Given the description of an element on the screen output the (x, y) to click on. 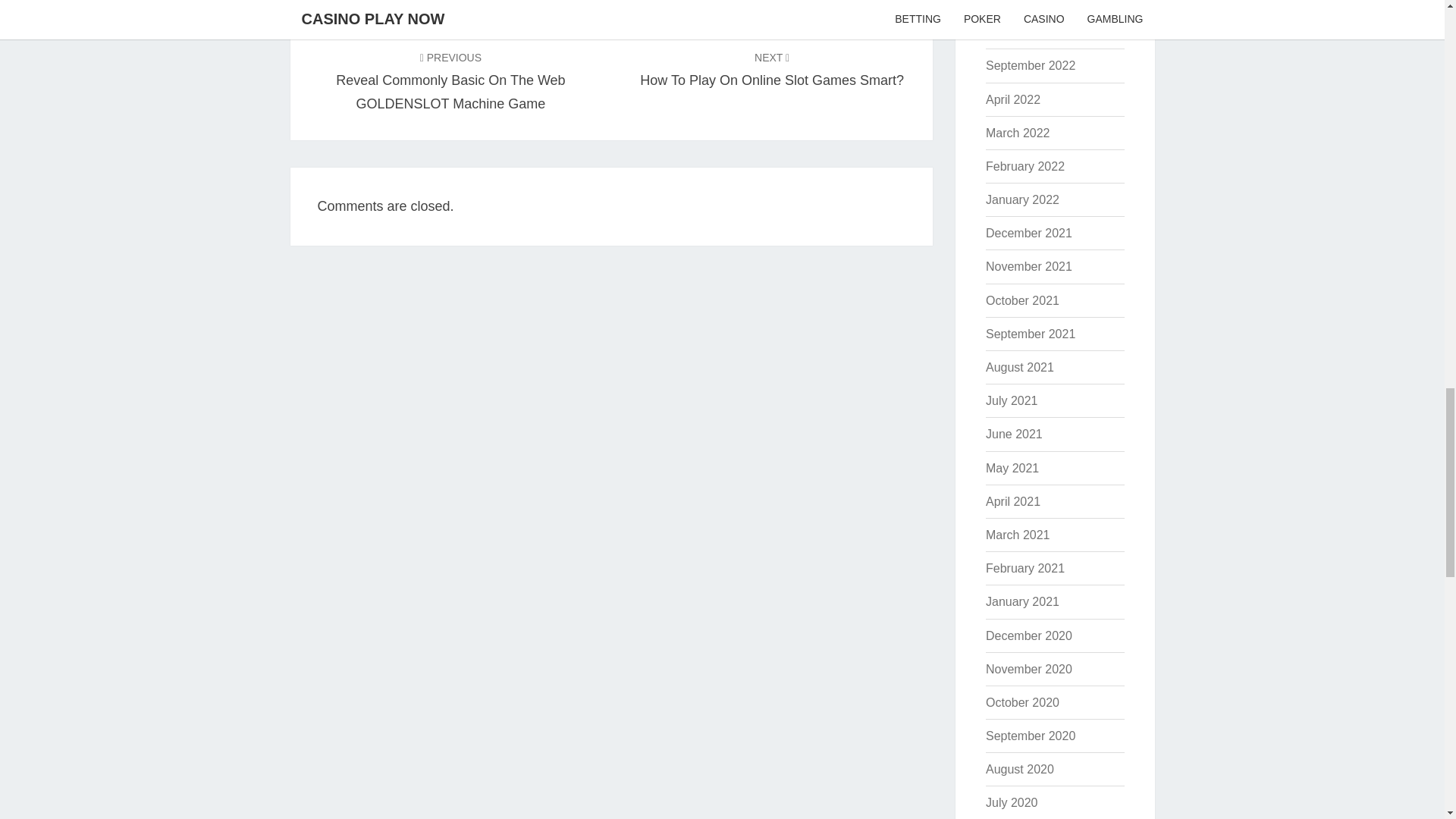
September 2022 (1030, 65)
March 2022 (1017, 132)
December 2022 (772, 68)
October 2022 (1028, 2)
April 2022 (1022, 31)
